Given the description of an element on the screen output the (x, y) to click on. 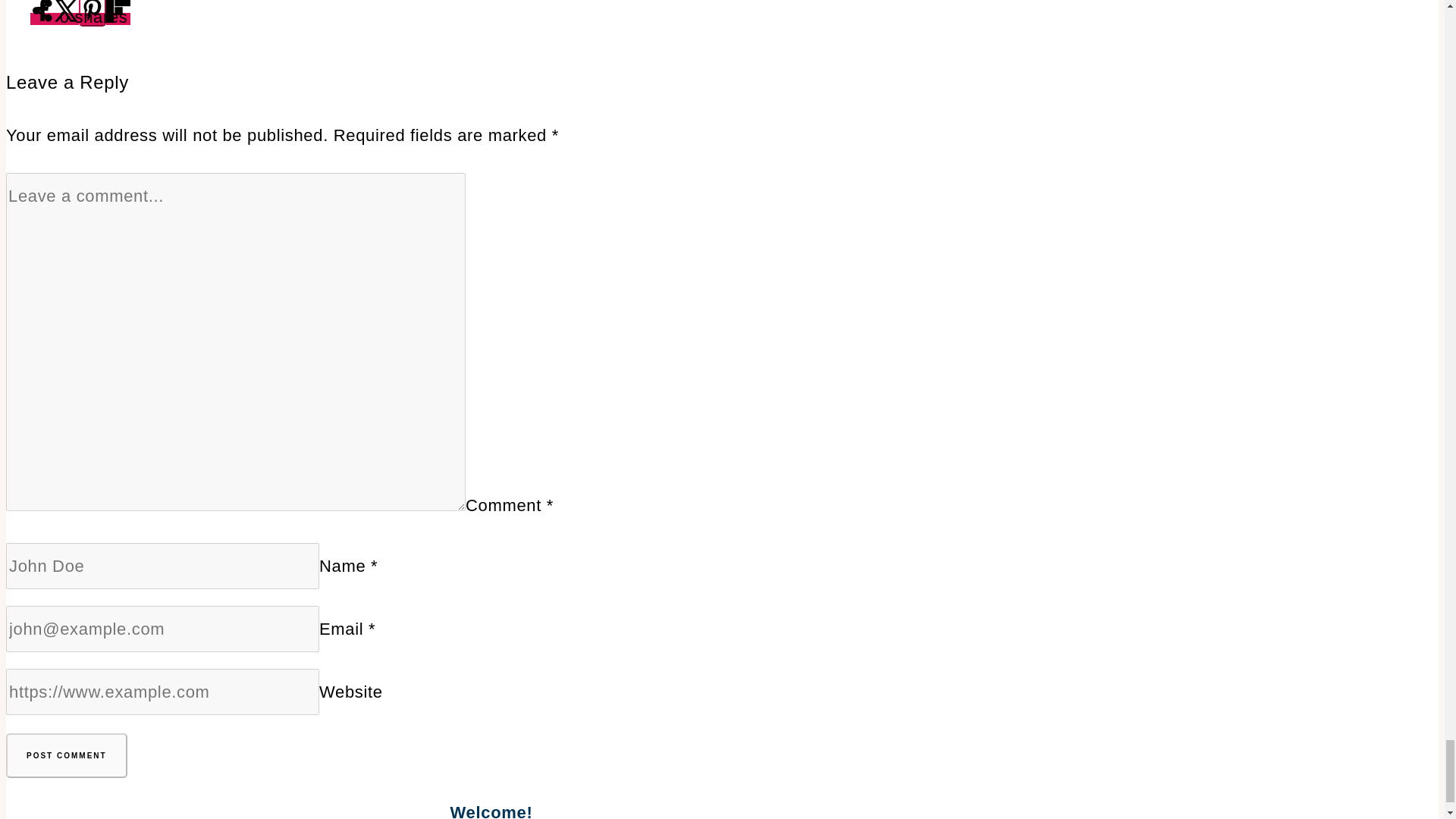
Share on X (66, 19)
Share on Flipboard (118, 19)
Share on Facebook (42, 19)
Post Comment (66, 755)
Save to Pinterest (92, 13)
